Given the description of an element on the screen output the (x, y) to click on. 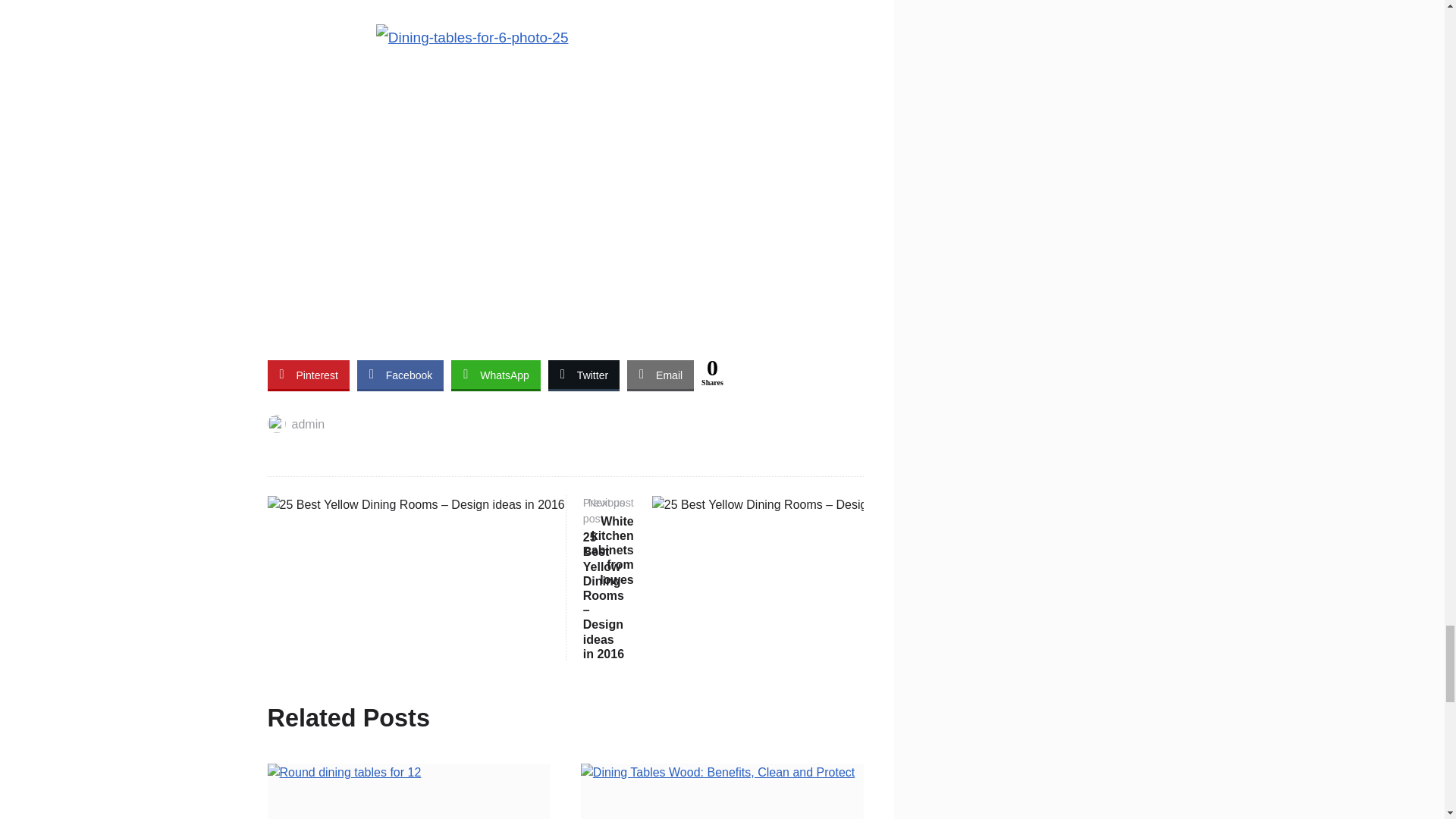
Twitter (584, 374)
Facebook (400, 374)
Email (660, 374)
Pinterest (308, 374)
WhatsApp (495, 374)
admin (295, 423)
